Given the description of an element on the screen output the (x, y) to click on. 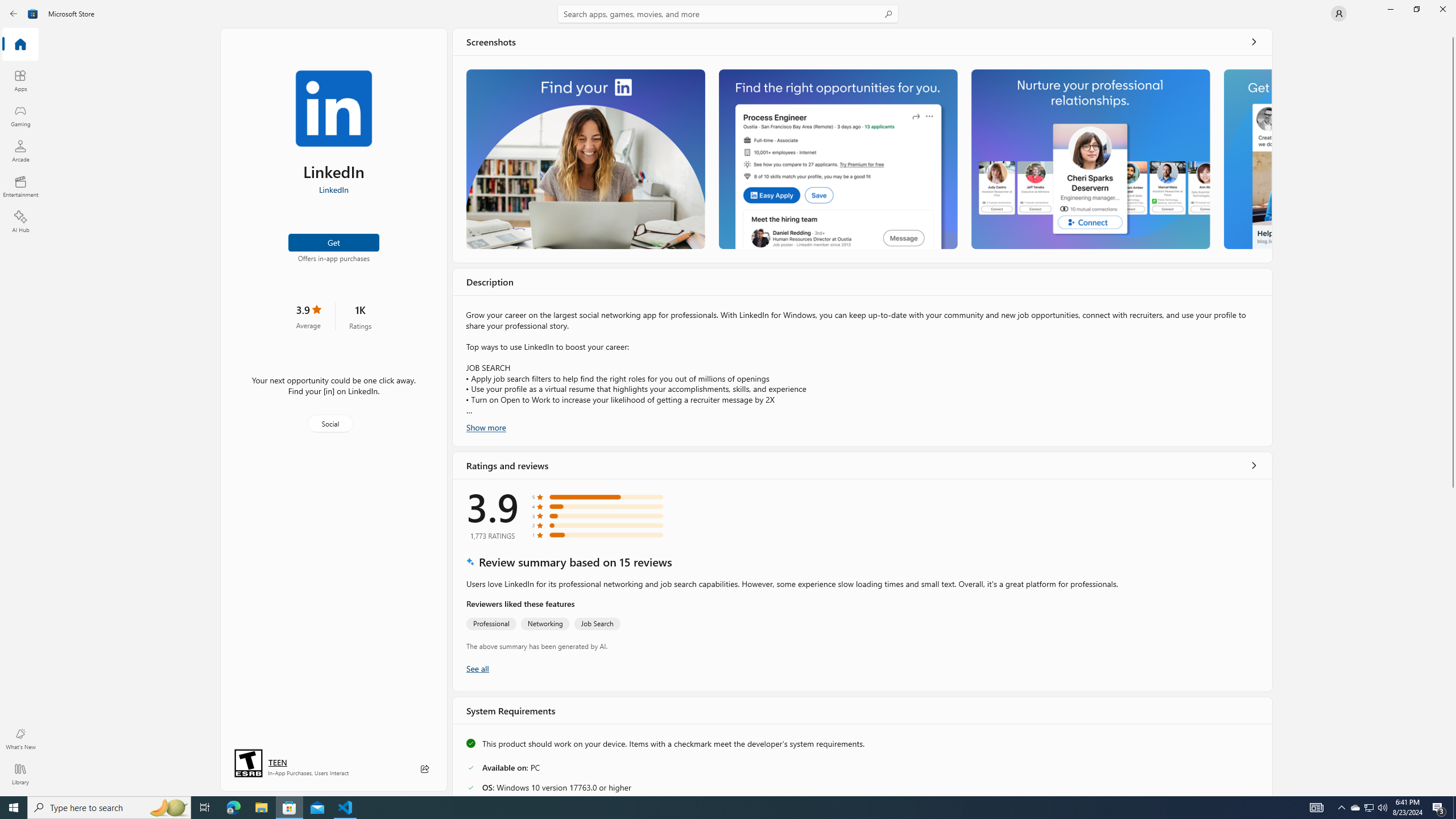
Back (13, 13)
Get (334, 241)
Vertical Large Increase (1452, 638)
Vertical Small Increase (1452, 792)
Age rating: TEEN. Click for more information. (276, 762)
Show all ratings and reviews (477, 667)
LinkedIn (332, 189)
See all (1253, 41)
Show all ratings and reviews (1253, 465)
